Given the description of an element on the screen output the (x, y) to click on. 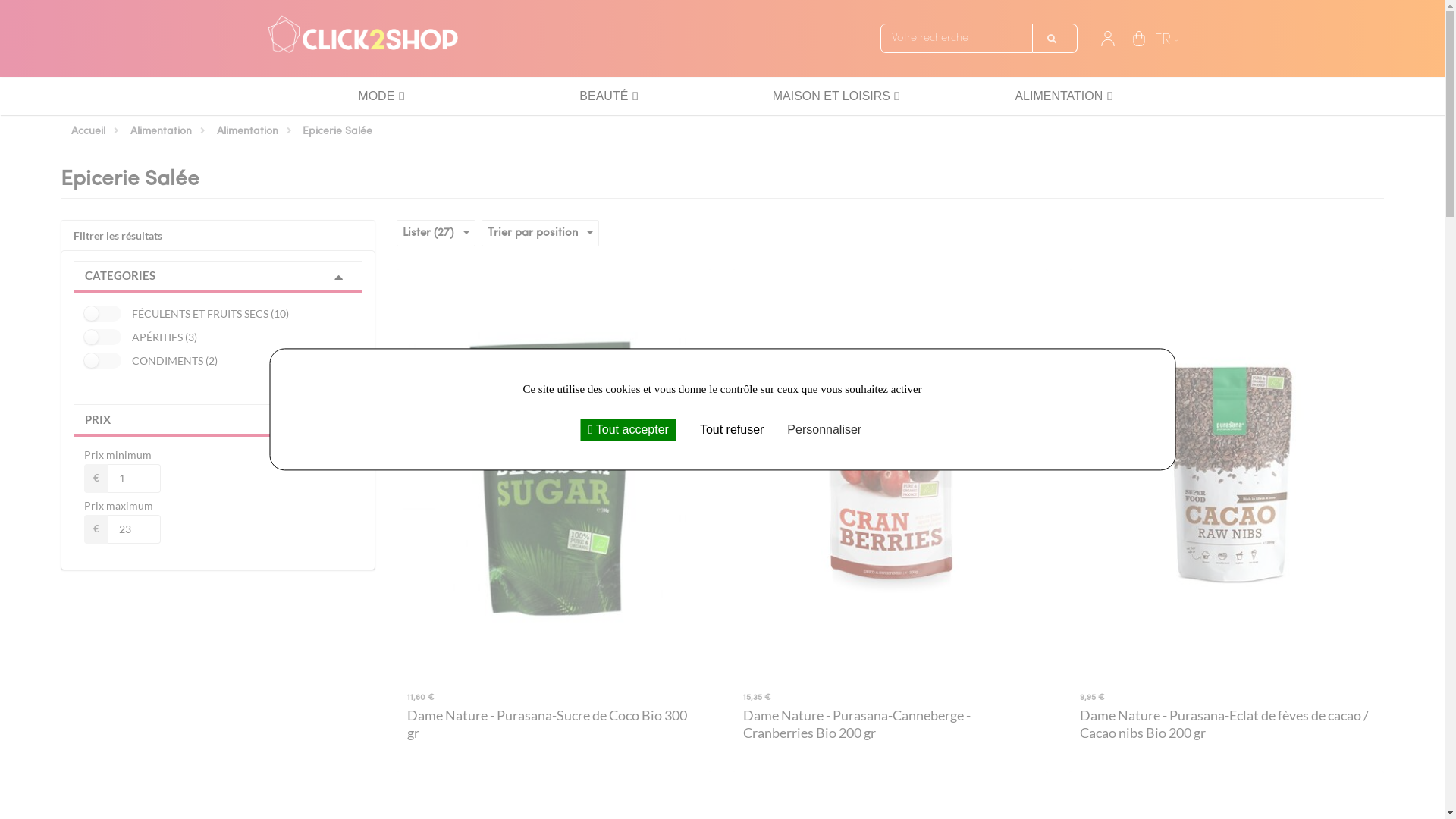
Dame Nature - Purasana-Canneberge - Cranberries Bio 200 gr Element type: text (889, 723)
Personnaliser Element type: text (824, 429)
Accueil Element type: text (89, 131)
Dame Nature - Purasana-Sucre de Coco Bio 300 gr Element type: text (553, 723)
Tout accepter Element type: text (628, 429)
Alimentation Element type: text (248, 131)
Alimentation Element type: text (162, 131)
MODE Element type: text (375, 95)
Tout refuser Element type: text (727, 429)
MAISON ET LOISIRS Element type: text (831, 95)
ALIMENTATION Element type: text (1058, 95)
